Given the description of an element on the screen output the (x, y) to click on. 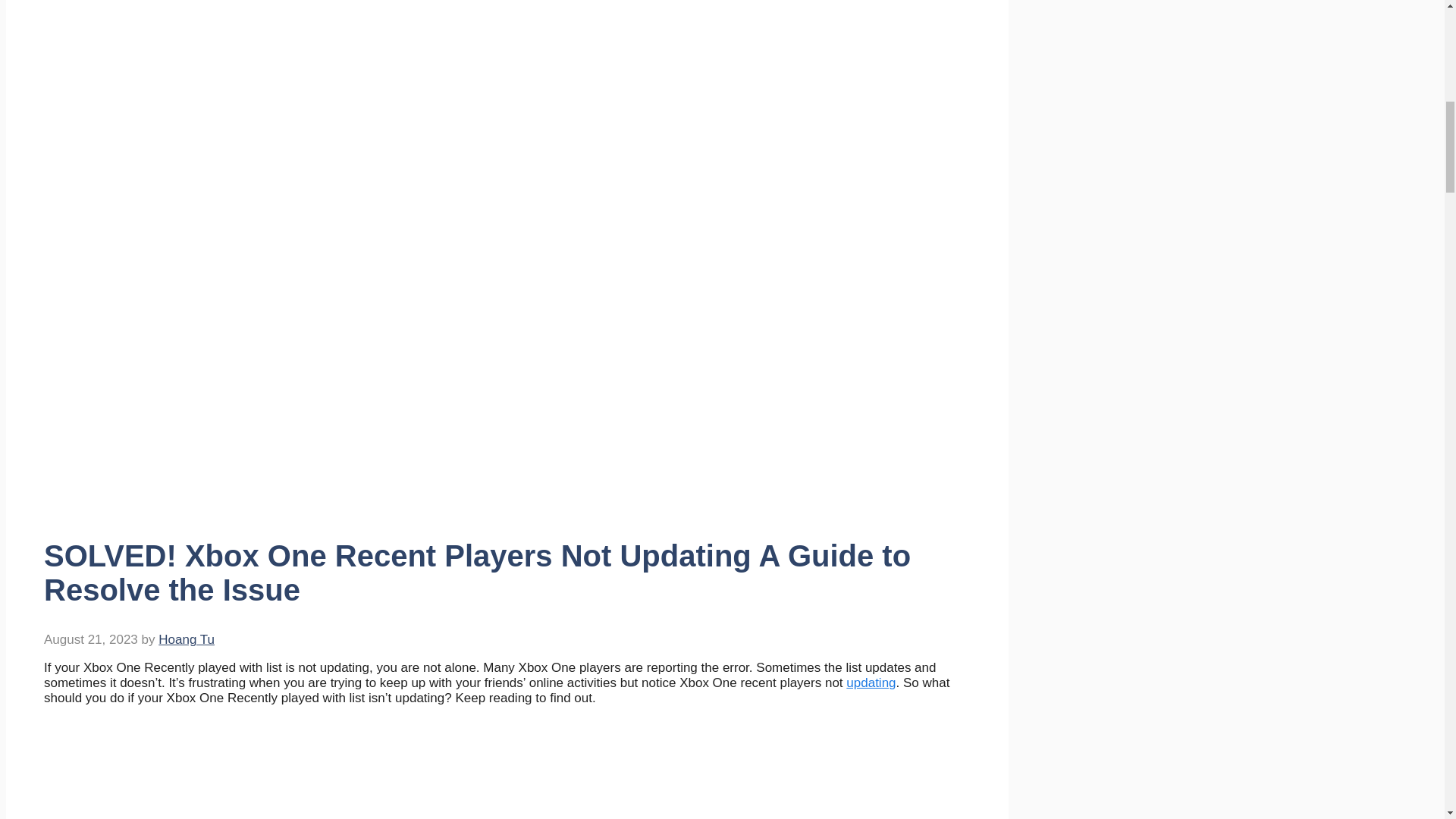
View all posts by Hoang Tu (186, 639)
updating (870, 682)
Hoang Tu (186, 639)
